Given the description of an element on the screen output the (x, y) to click on. 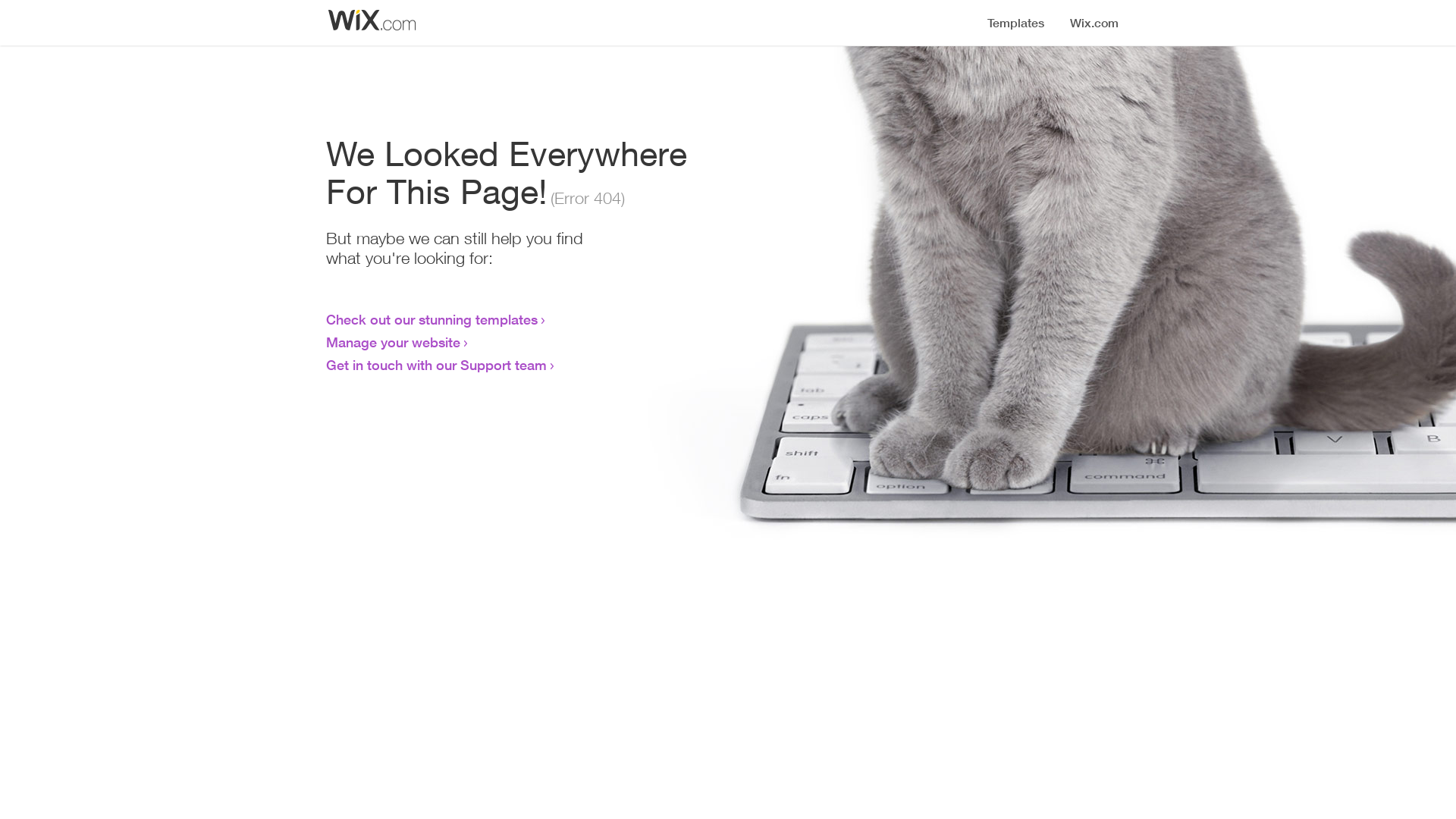
Get in touch with our Support team Element type: text (436, 364)
Manage your website Element type: text (393, 341)
Check out our stunning templates Element type: text (431, 318)
